Given the description of an element on the screen output the (x, y) to click on. 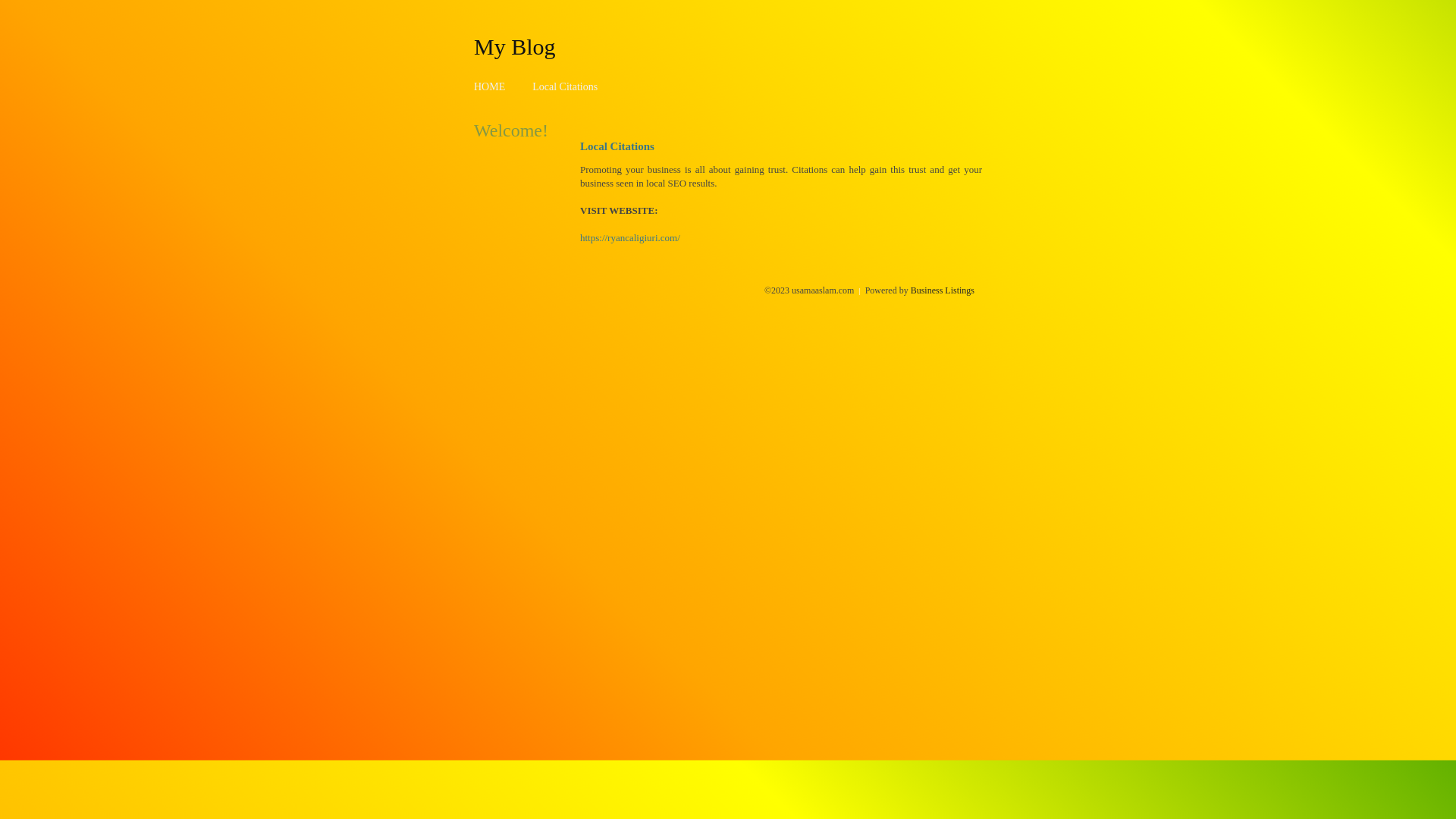
HOME Element type: text (489, 86)
Business Listings Element type: text (942, 290)
My Blog Element type: text (514, 46)
Local Citations Element type: text (564, 86)
https://ryancaligiuri.com/ Element type: text (630, 237)
